Given the description of an element on the screen output the (x, y) to click on. 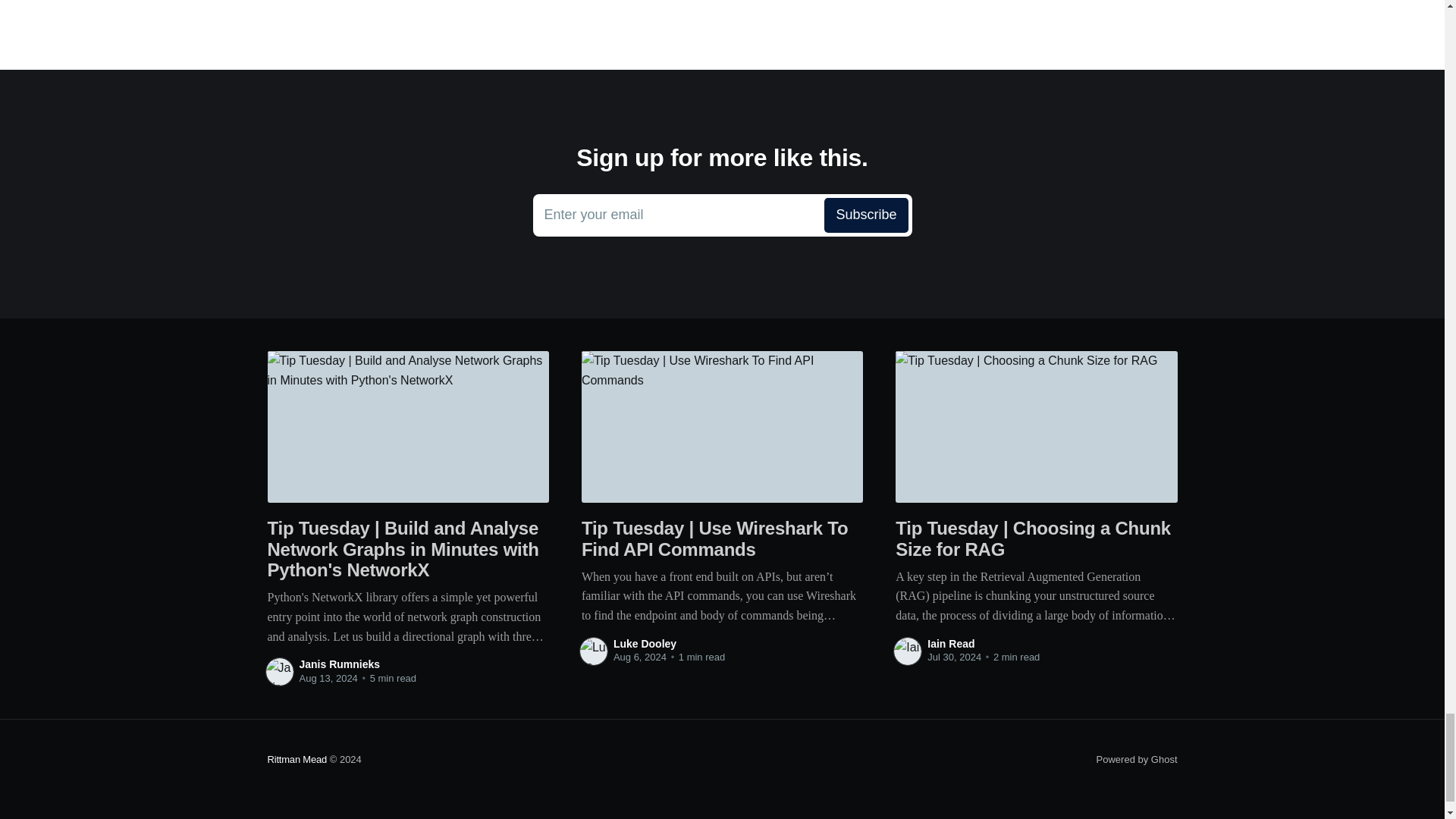
Janis Rumnieks (339, 664)
Luke Dooley (644, 644)
Powered by Ghost (1136, 758)
Rittman Mead (296, 758)
Iain Read (721, 215)
